Given the description of an element on the screen output the (x, y) to click on. 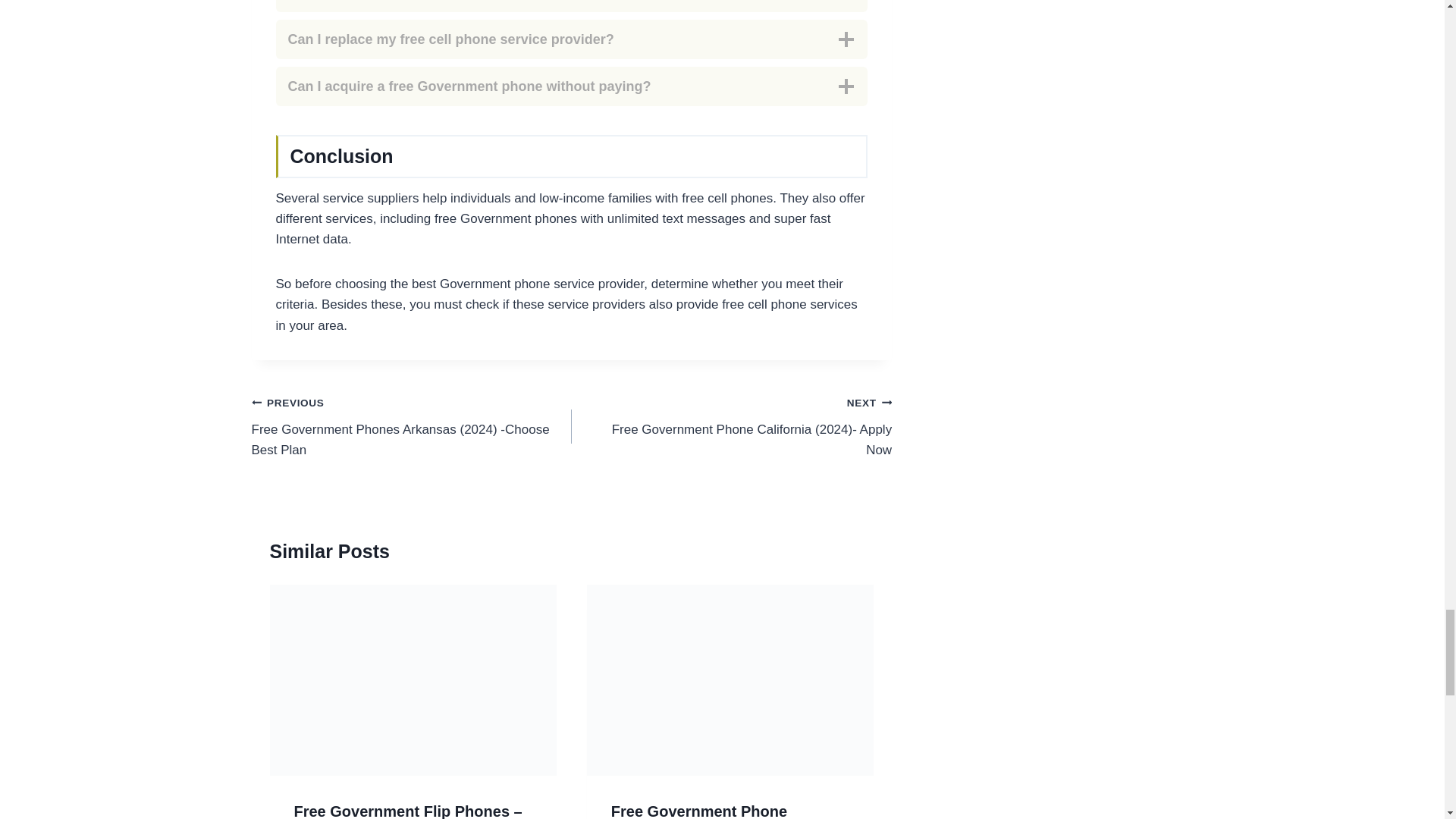
Can I replace my free cell phone service provider? (571, 38)
Can I acquire a free Government phone without paying? (571, 86)
